Given the description of an element on the screen output the (x, y) to click on. 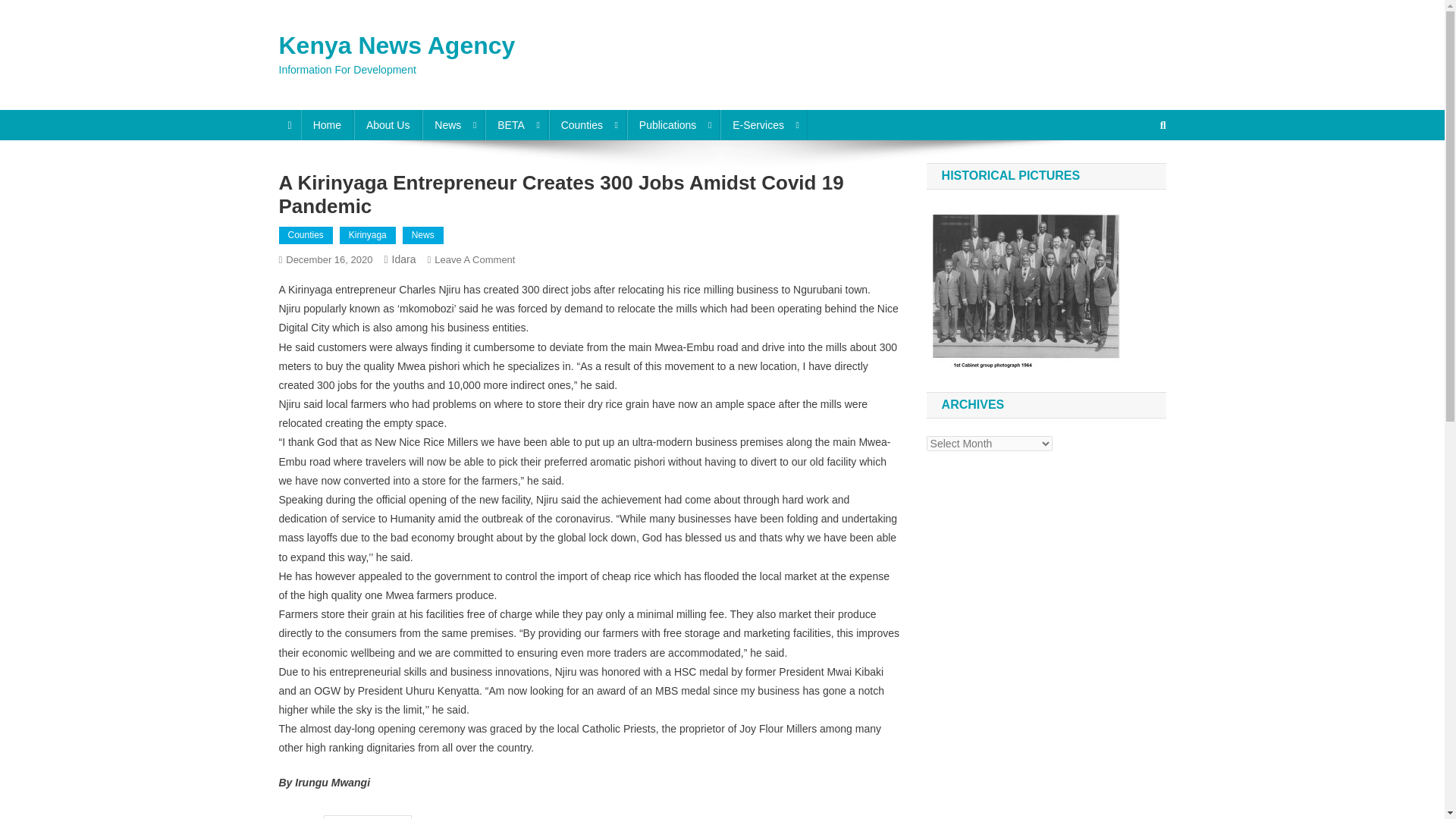
About Us (387, 124)
Counties (587, 124)
Home (327, 124)
Kenya News Agency (397, 44)
BETA (516, 124)
News (453, 124)
